Given the description of an element on the screen output the (x, y) to click on. 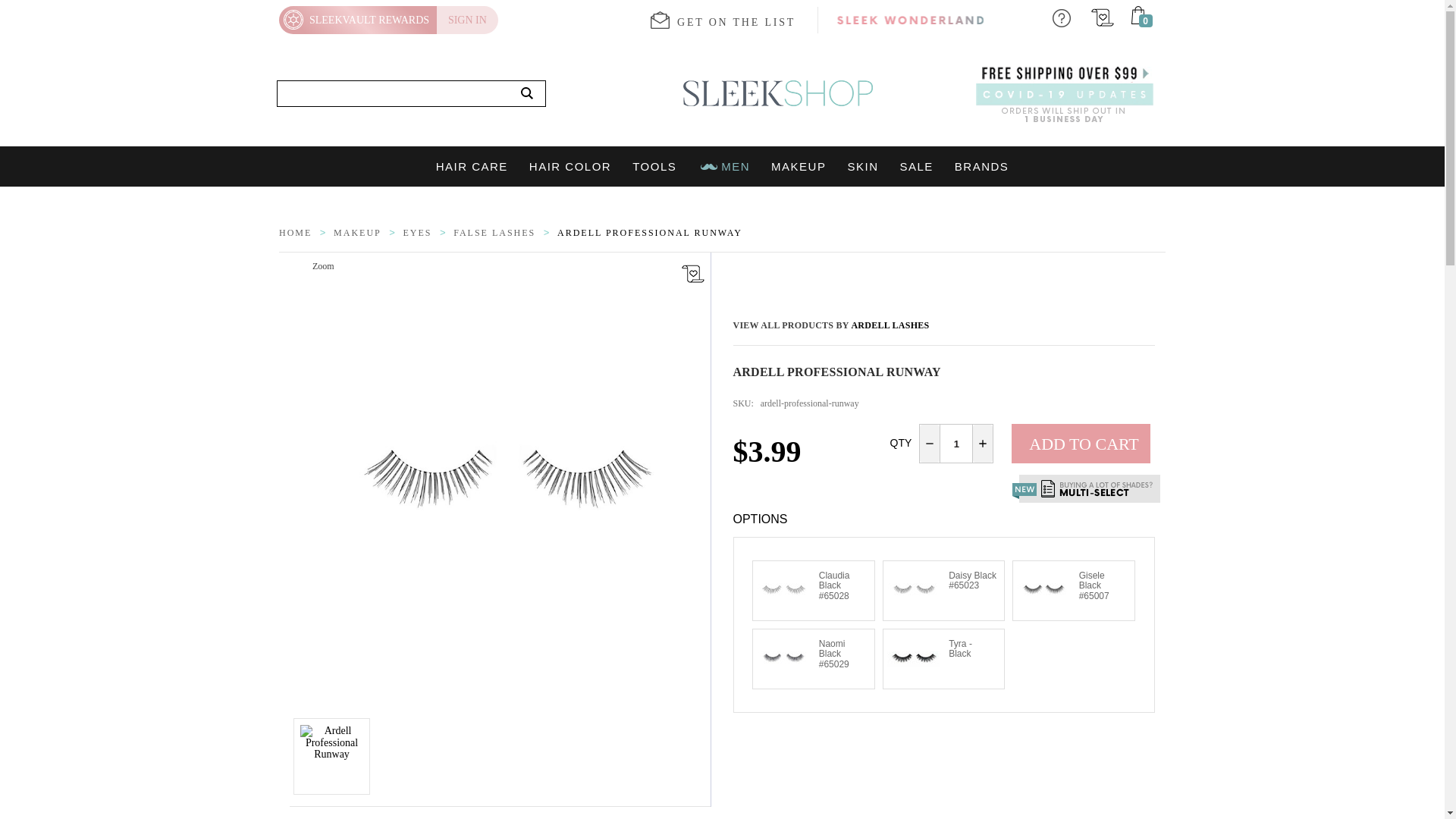
SLEEKVAULT REWARDS (357, 19)
SIGN IN (466, 19)
HAIR CARE (471, 166)
SleekVault Rewards (357, 19)
Bulk Order (1085, 488)
Search the store (526, 94)
sleek wonderland (910, 19)
